Given the description of an element on the screen output the (x, y) to click on. 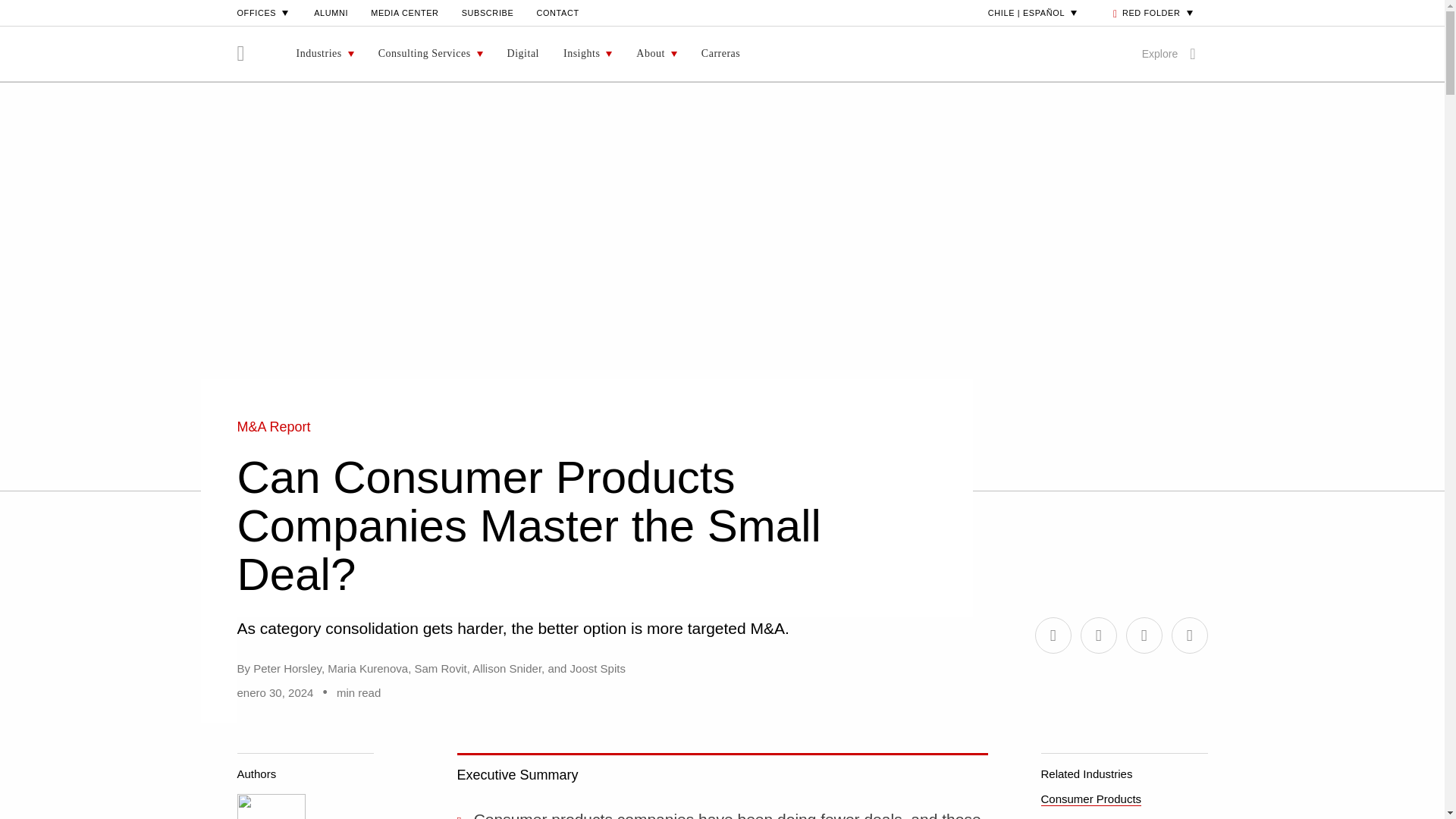
OFFICES (263, 12)
